Given the description of an element on the screen output the (x, y) to click on. 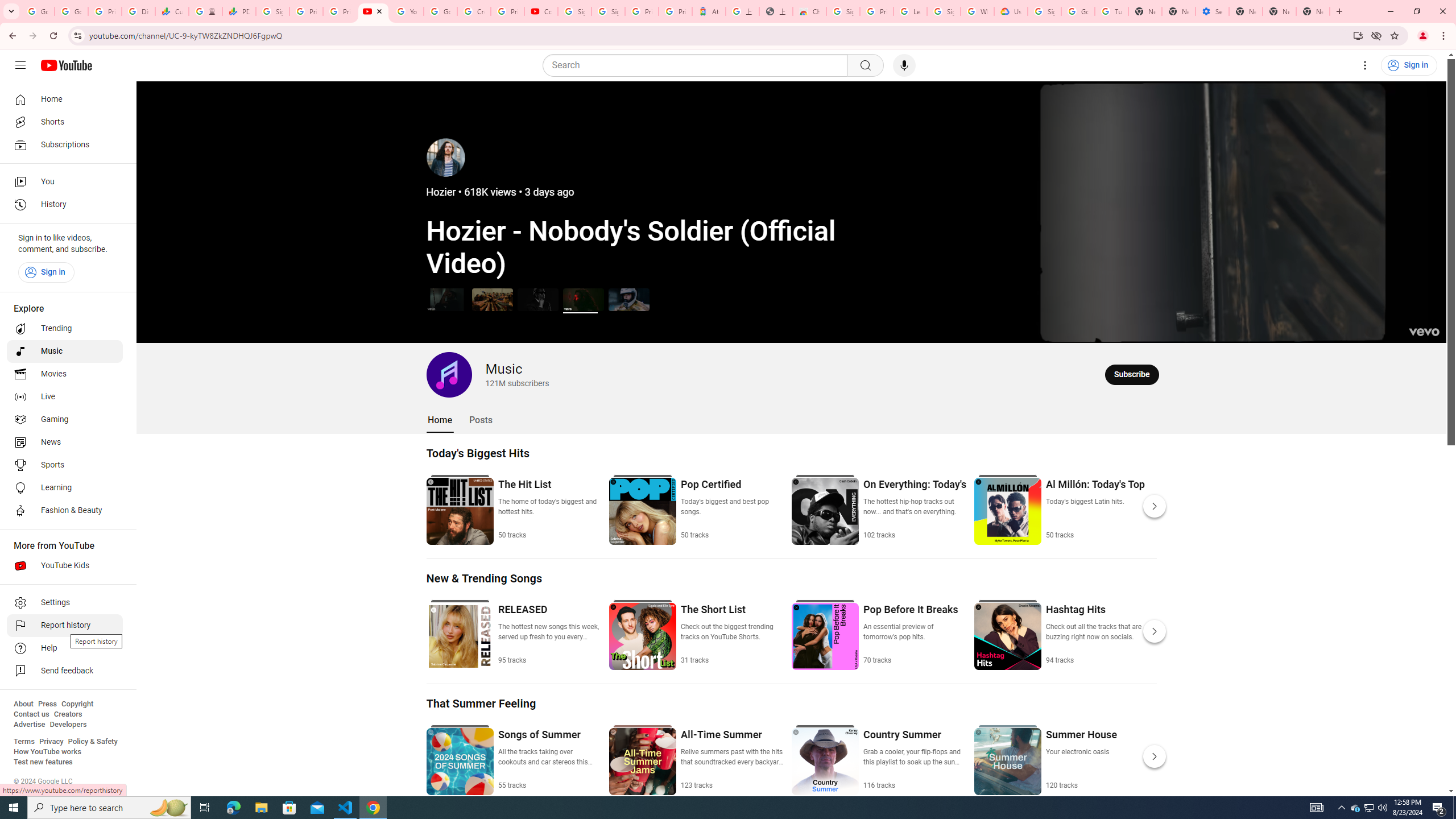
Guide (20, 65)
Who are Google's partners? - Privacy and conditions - Google (976, 11)
Today's Biggest Hits (477, 453)
Summer House Your electronic oasis 120 tracks (1080, 758)
Shorts (64, 121)
Install YouTube (1358, 35)
